Given the description of an element on the screen output the (x, y) to click on. 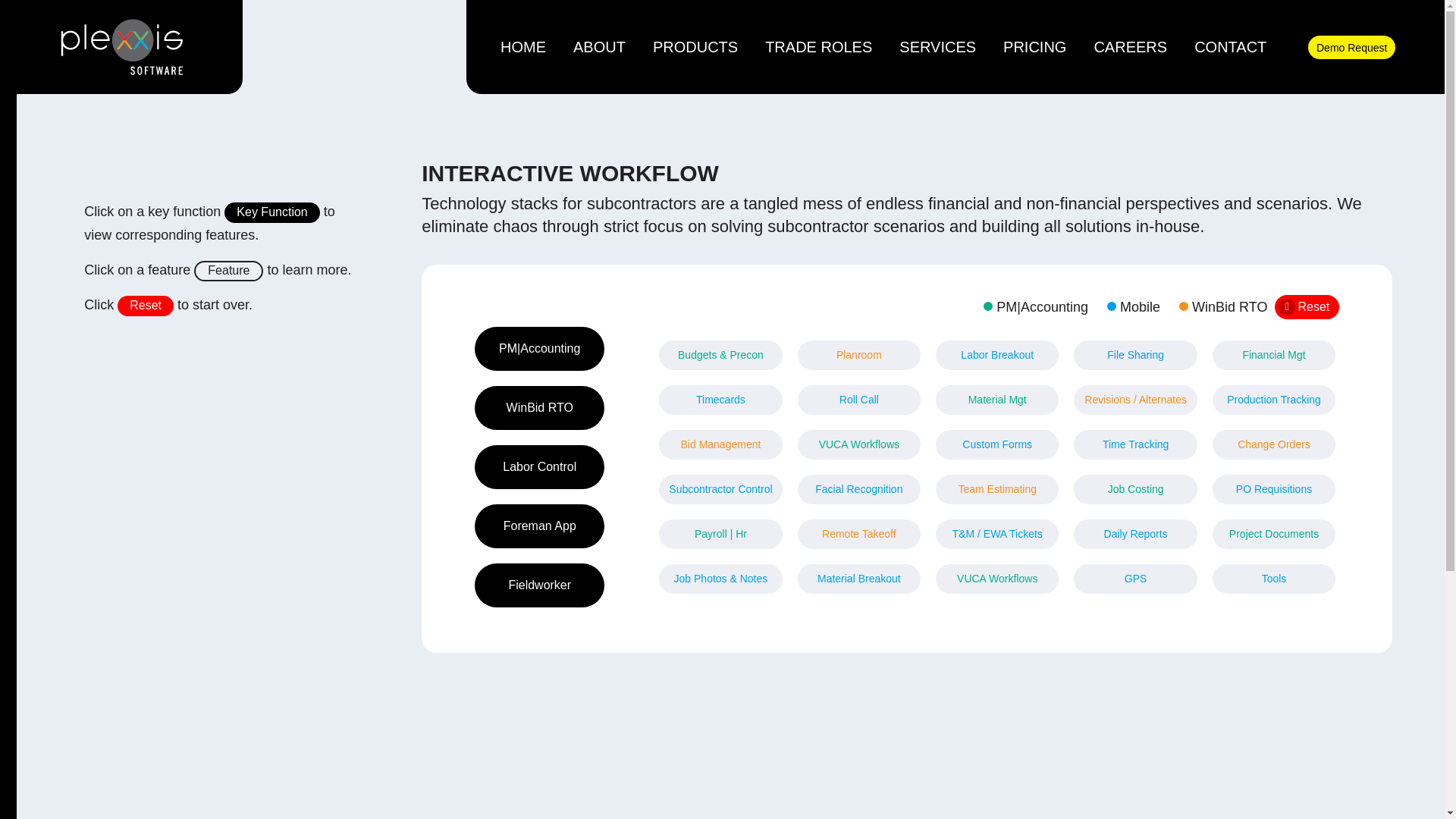
Trade Roles (818, 47)
ABOUT (599, 47)
About (599, 47)
CAREERS (1129, 47)
PRODUCTS (695, 47)
SERVICES (937, 47)
TRADE ROLES (818, 47)
HOME (523, 47)
CONTACT (1229, 47)
PRICING (1034, 47)
Home (523, 47)
Products (695, 47)
